Given the description of an element on the screen output the (x, y) to click on. 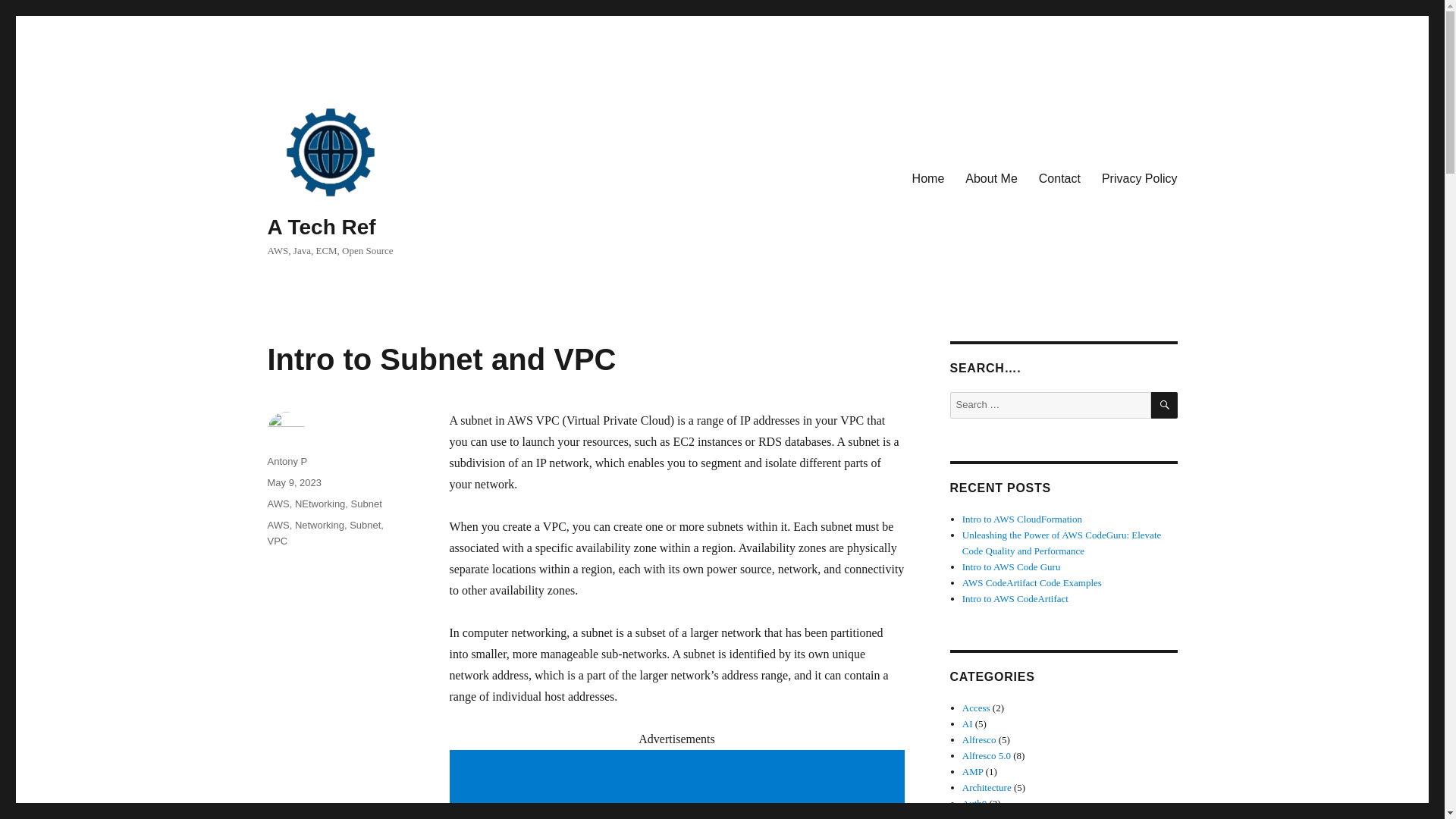
NEtworking (320, 503)
Alfresco (978, 739)
Intro to AWS CloudFormation (1021, 518)
A Tech Ref (320, 227)
Subnet (364, 524)
Intro to AWS CodeArtifact (1015, 598)
Home (928, 178)
Advertisement (679, 785)
Networking (319, 524)
AI (967, 723)
About Me (991, 178)
Intro to AWS Code Guru (1011, 566)
AWS CodeArtifact Code Examples (1032, 582)
Access (976, 707)
Subnet (365, 503)
